Given the description of an element on the screen output the (x, y) to click on. 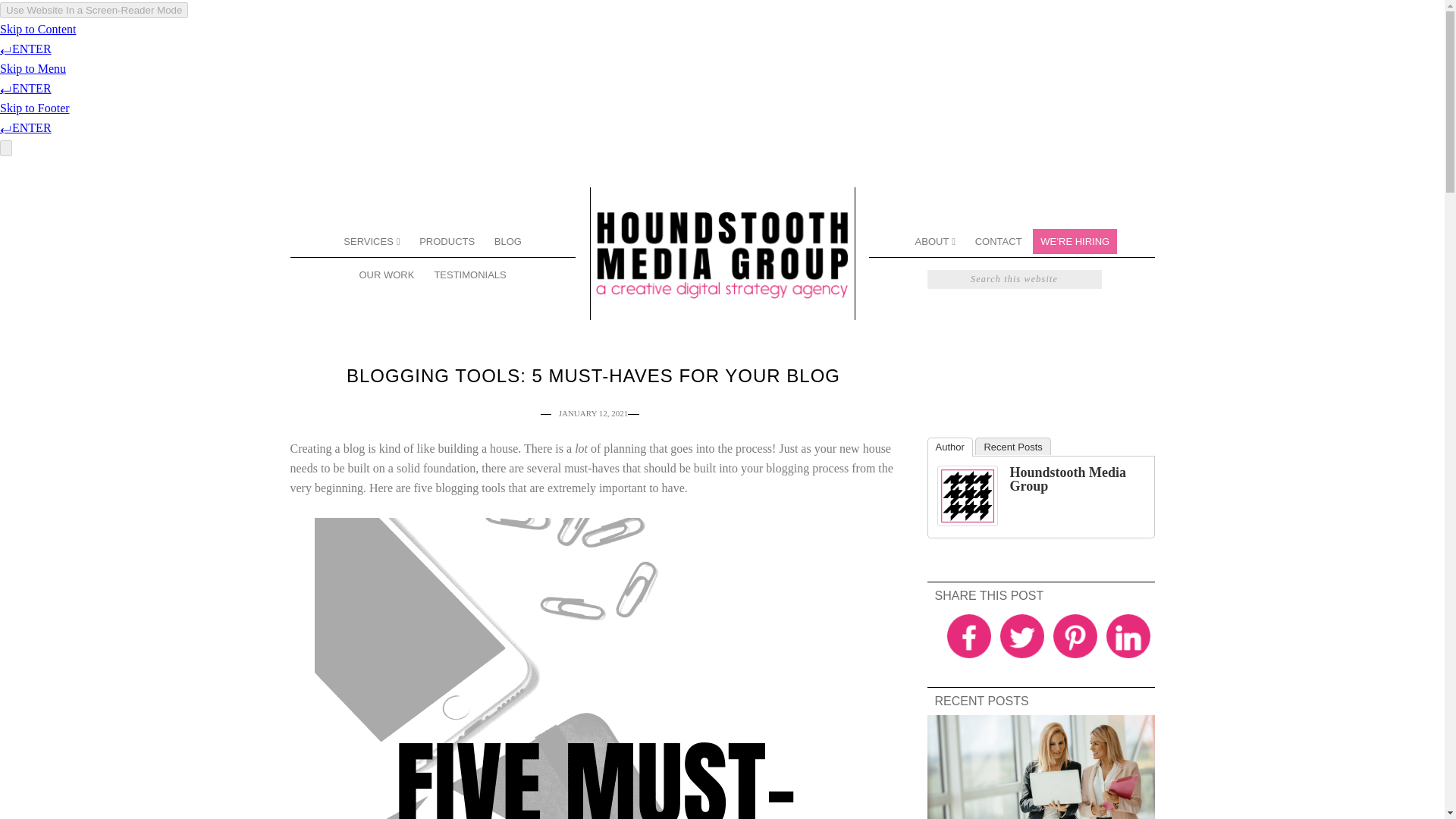
The Power of Business Mentoring: Your Path to Success (1040, 766)
HOUNDSTOOTH MEDIA GROUP (721, 253)
BLOG (507, 240)
pinterest (1074, 635)
ABOUT (935, 240)
PRODUCTS (446, 240)
CONTACT (998, 240)
OUR WORK (386, 273)
linkedin (1127, 635)
facebook (968, 635)
twitter (1021, 635)
SERVICES (370, 240)
